Given the description of an element on the screen output the (x, y) to click on. 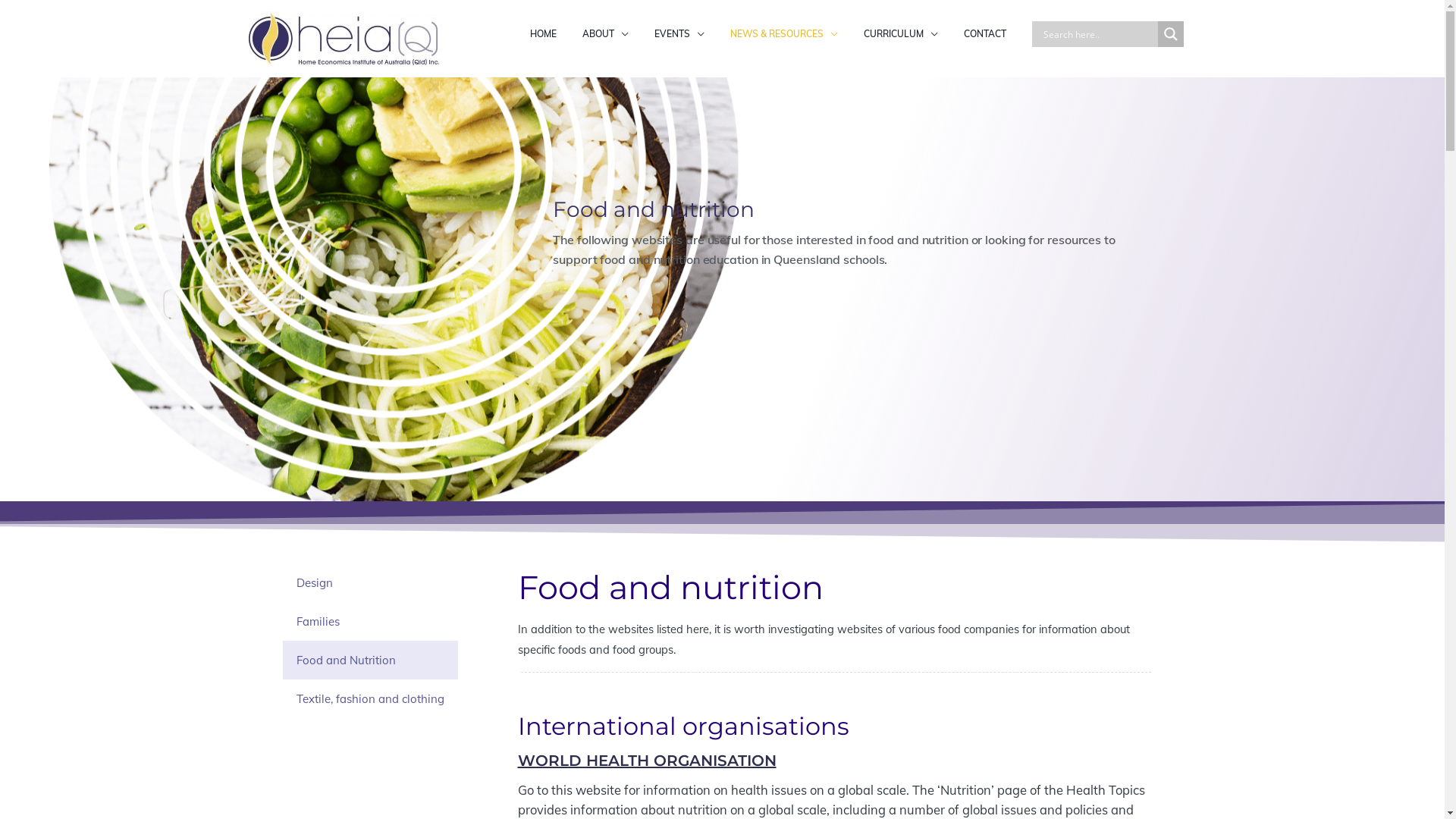
Textile, fashion and clothing Element type: text (369, 698)
HOME Element type: text (543, 33)
Food and Nutrition Element type: text (369, 659)
ABOUT Element type: text (604, 33)
WORLD HEALTH ORGANISATION Element type: text (646, 760)
EVENTS Element type: text (679, 33)
CURRICULUM Element type: text (900, 33)
CONTACT Element type: text (984, 33)
Design Element type: text (369, 582)
NEWS & RESOURCES Element type: text (783, 33)
Families Element type: text (369, 621)
